Given the description of an element on the screen output the (x, y) to click on. 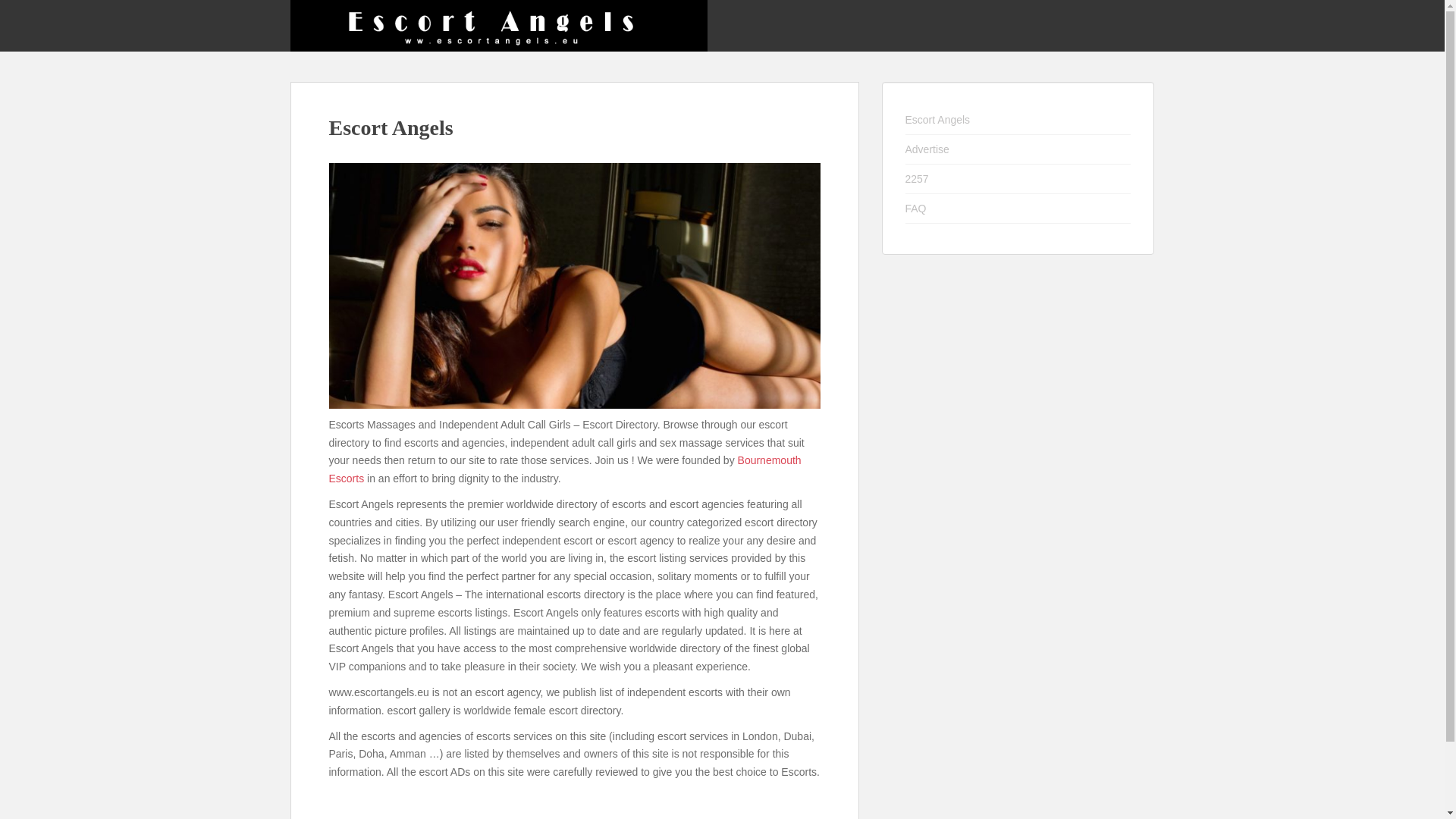
Advertise (1018, 149)
Escort Angels (1018, 120)
FAQ (1018, 208)
Bournemouth Escorts (565, 469)
2257 (1018, 179)
